Given the description of an element on the screen output the (x, y) to click on. 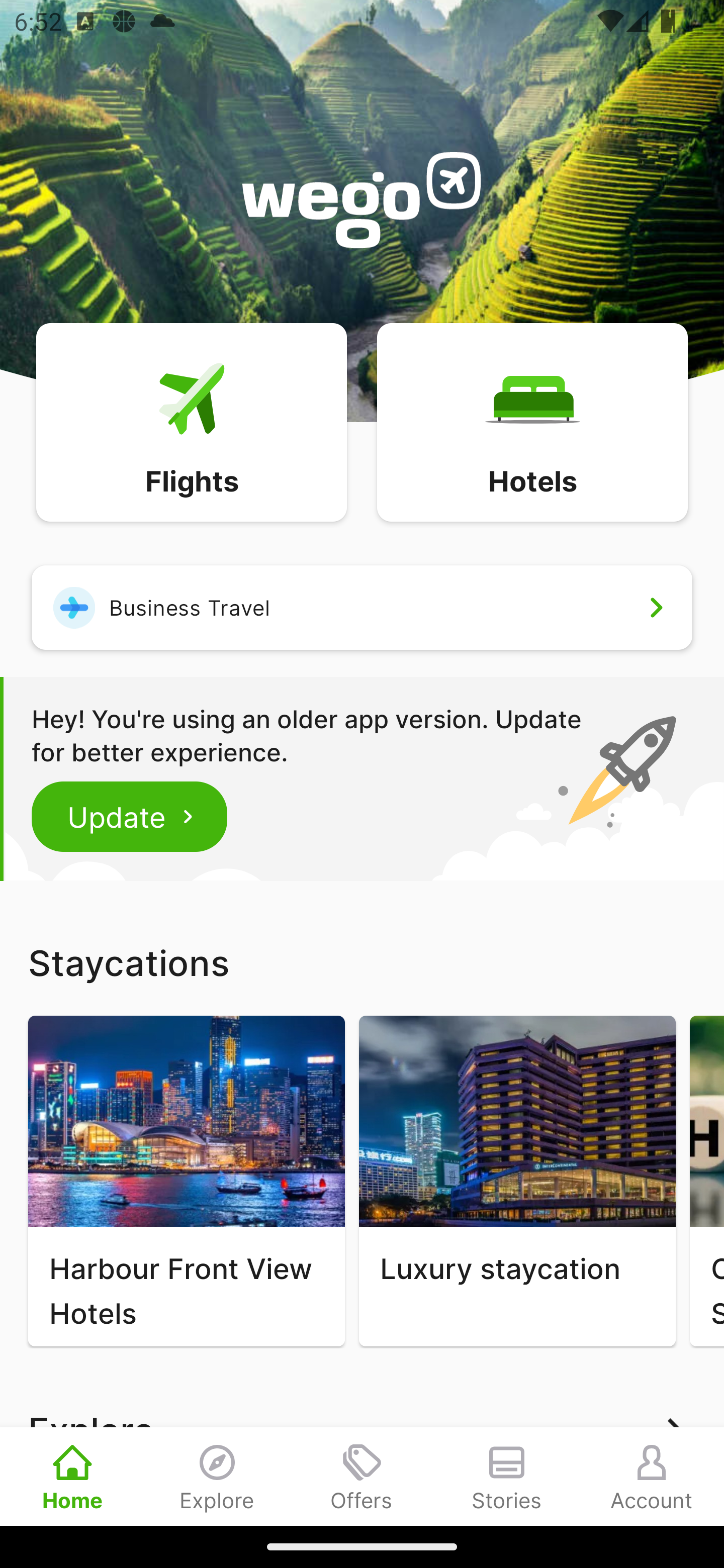
Flights (191, 420)
Hotels (532, 420)
Business Travel (361, 607)
Update (129, 815)
Staycations (362, 962)
Harbour Front View Hotels (186, 1181)
Luxury staycation (517, 1181)
Explore (216, 1475)
Offers (361, 1475)
Stories (506, 1475)
Account (651, 1475)
